Given the description of an element on the screen output the (x, y) to click on. 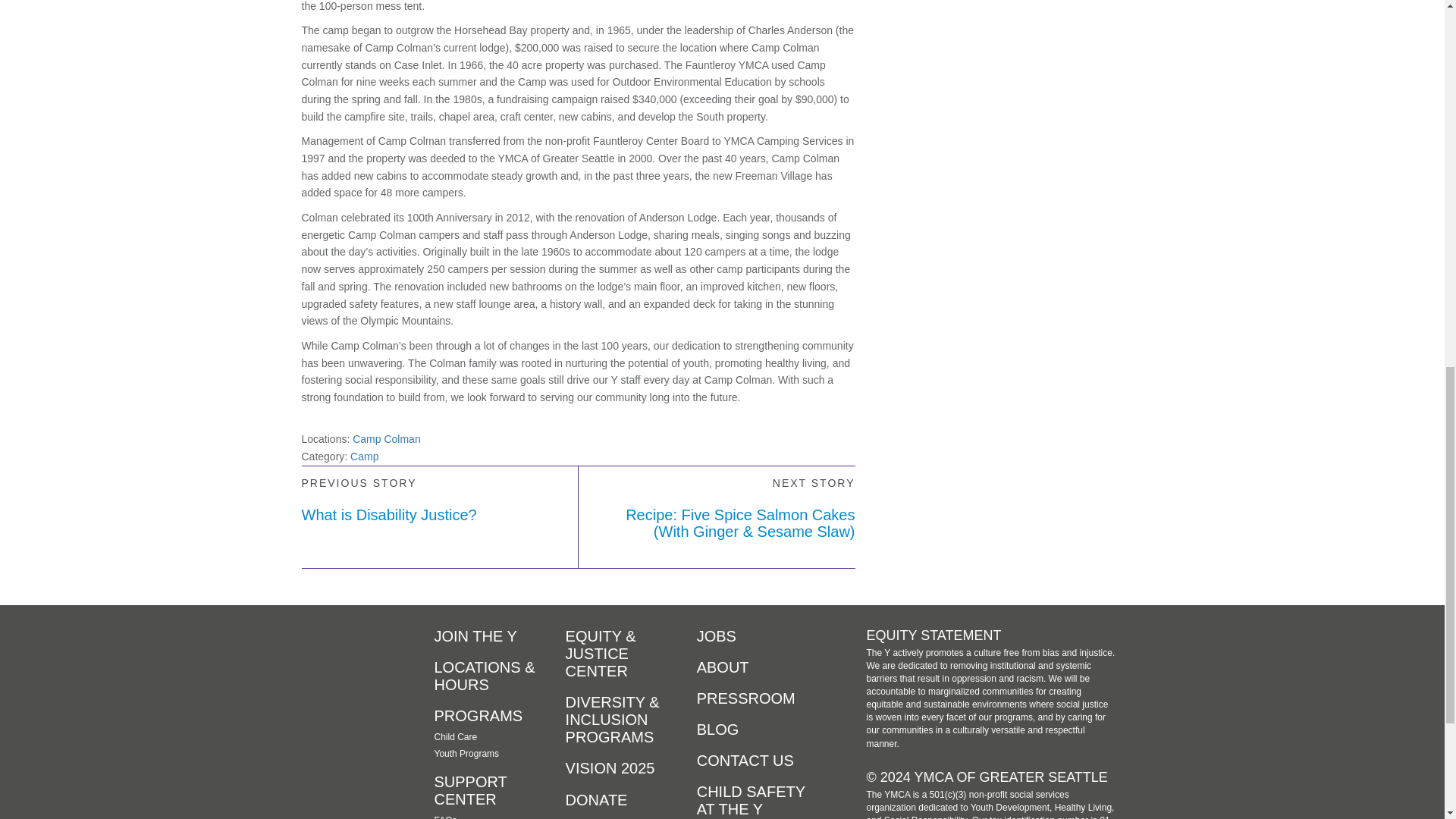
YMCA (339, 656)
